Given the description of an element on the screen output the (x, y) to click on. 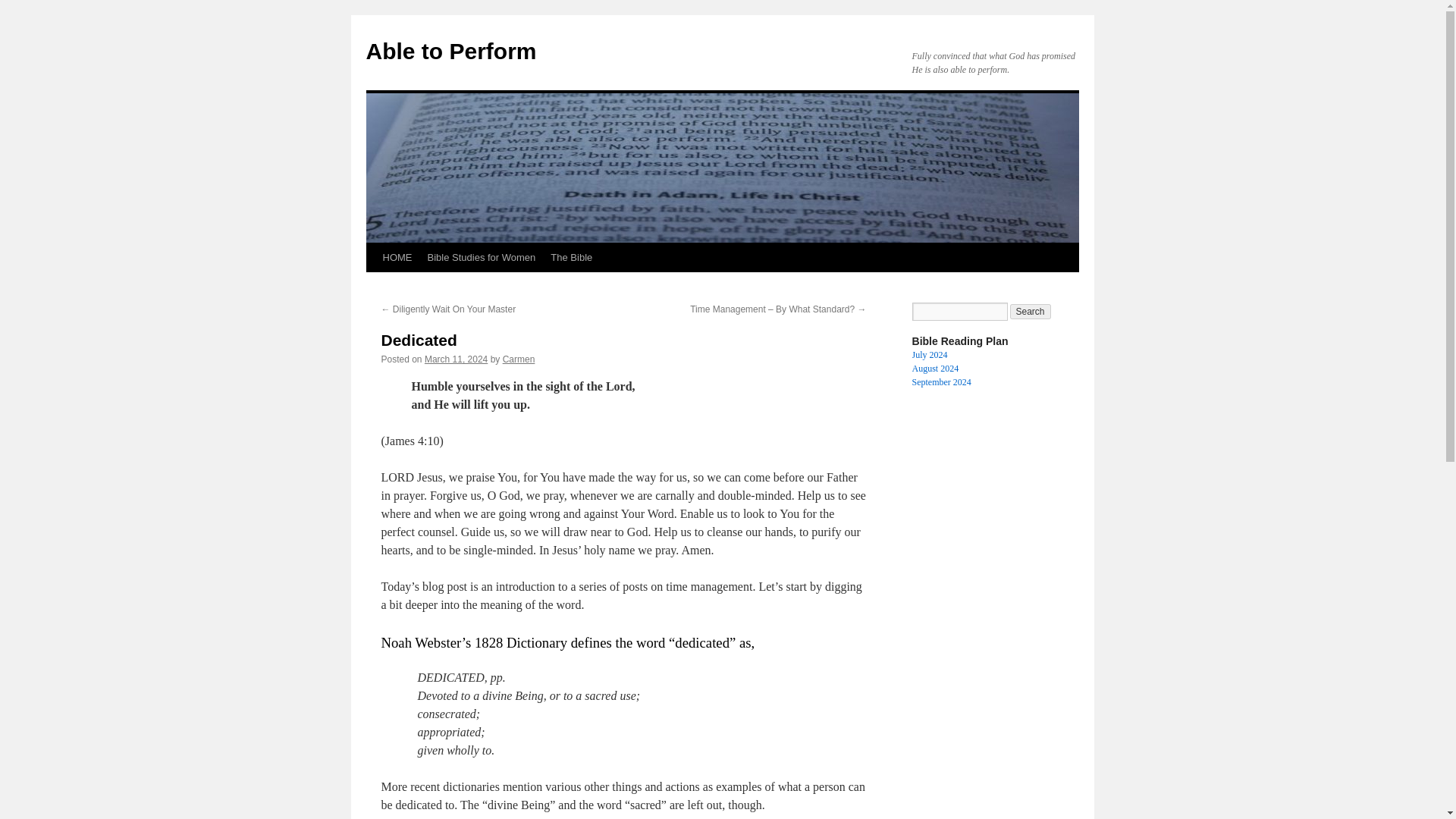
The Bible (571, 257)
1:24 pm (456, 358)
July 2024 (929, 354)
Search (1030, 311)
August 2024 (934, 368)
Bible Studies for Women (481, 257)
View all posts by Carmen (518, 358)
Carmen (518, 358)
March 11, 2024 (456, 358)
Search (1030, 311)
September 2024 (941, 381)
HOME (396, 257)
Able to Perform (450, 50)
